Given the description of an element on the screen output the (x, y) to click on. 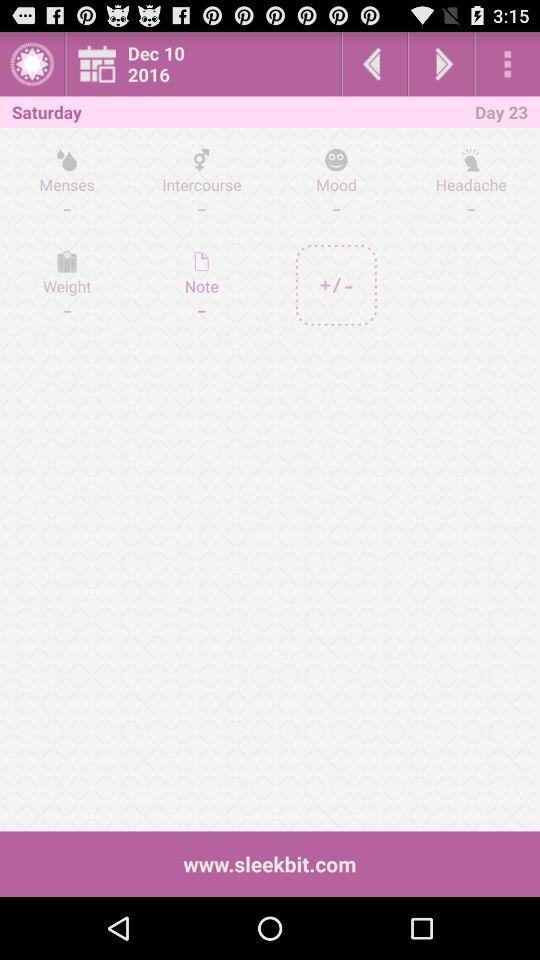
next (441, 63)
